Given the description of an element on the screen output the (x, y) to click on. 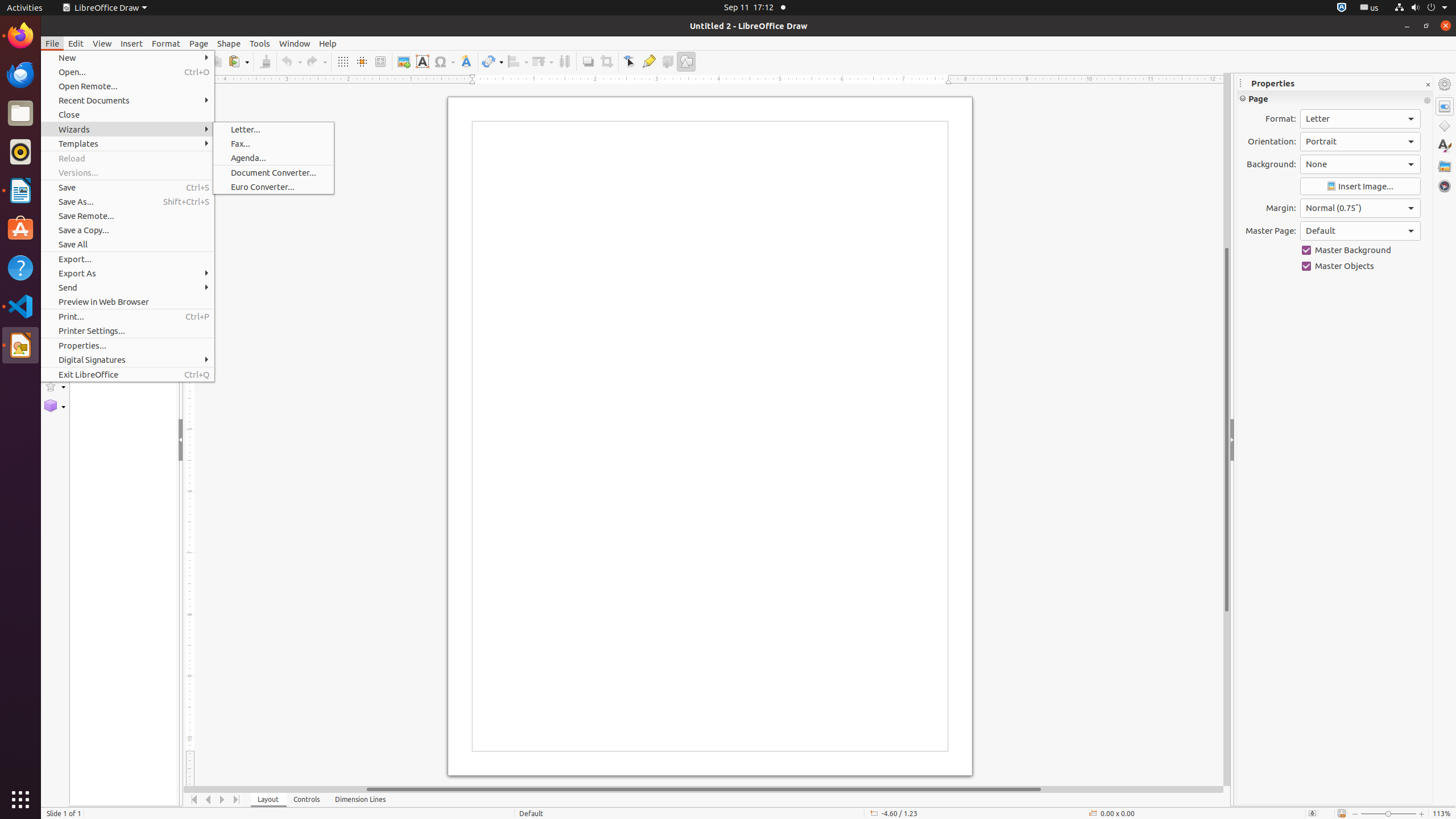
System Element type: menu (1420, 7)
Background: Element type: combo-box (1360, 164)
Save All Element type: menu-item (127, 244)
Margin: Element type: combo-box (1360, 207)
Gallery Element type: radio-button (1444, 165)
